Given the description of an element on the screen output the (x, y) to click on. 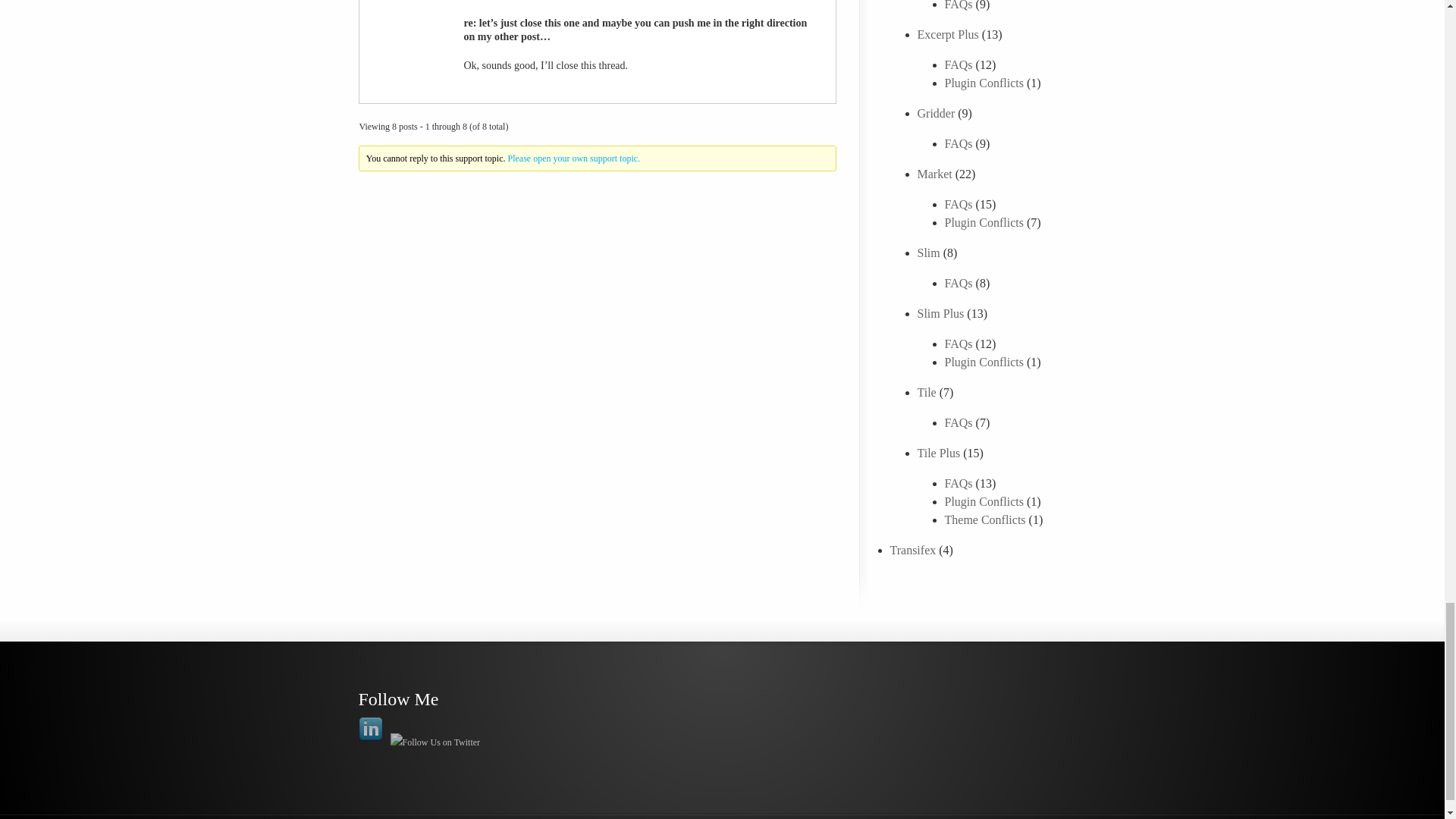
Follow Us on Twitter (435, 742)
Follow Us on LinkedIn (369, 729)
